Given the description of an element on the screen output the (x, y) to click on. 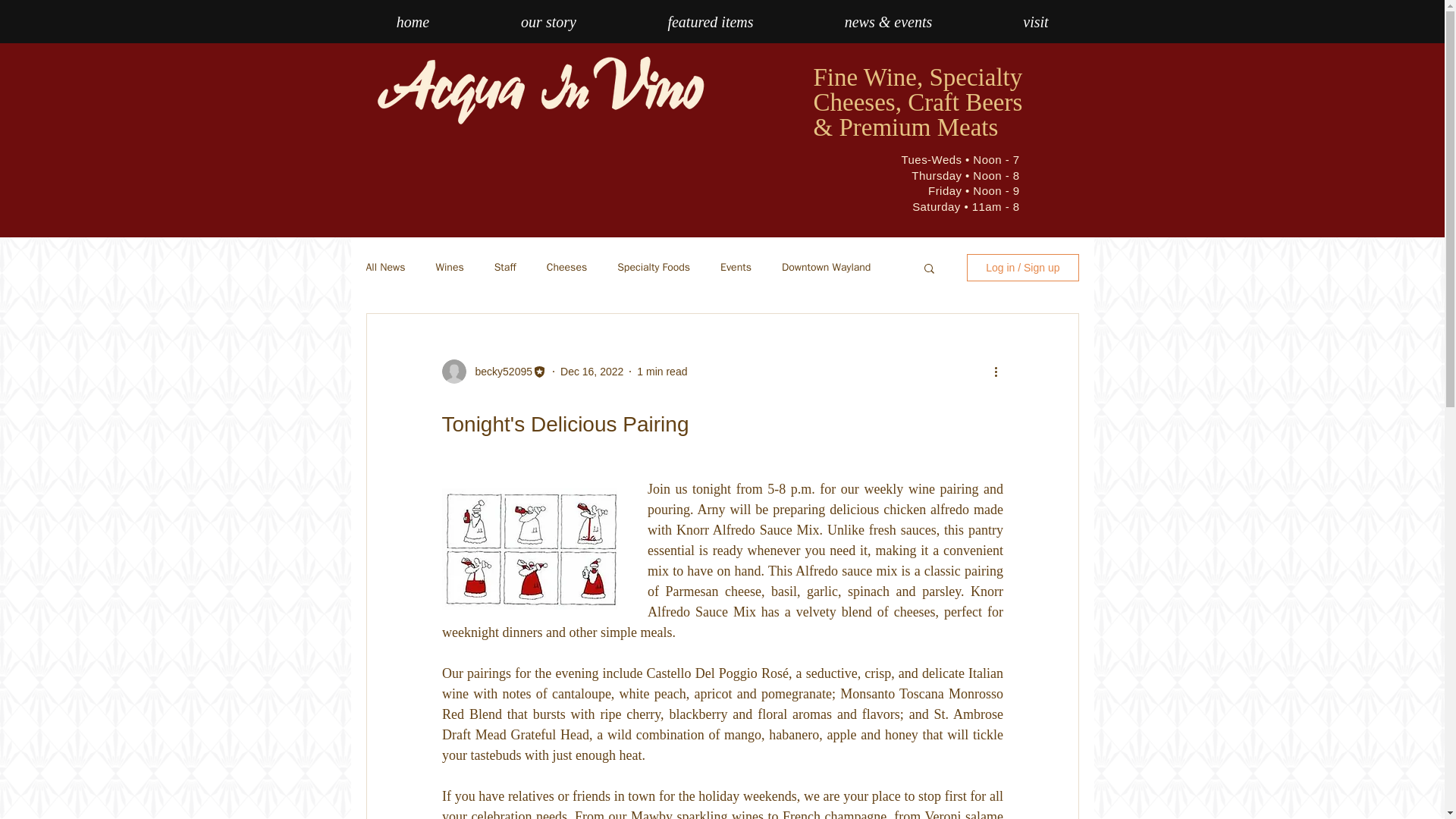
Downtown Wayland (825, 267)
Cheeses (566, 267)
becky52095 (498, 371)
Dec 16, 2022 (591, 371)
featured items (709, 22)
Wines (449, 267)
visit (1036, 22)
Events (735, 267)
Staff (505, 267)
our story (547, 22)
home (412, 22)
Specialty Foods (653, 267)
1 min read (662, 371)
All News (384, 267)
